Given the description of an element on the screen output the (x, y) to click on. 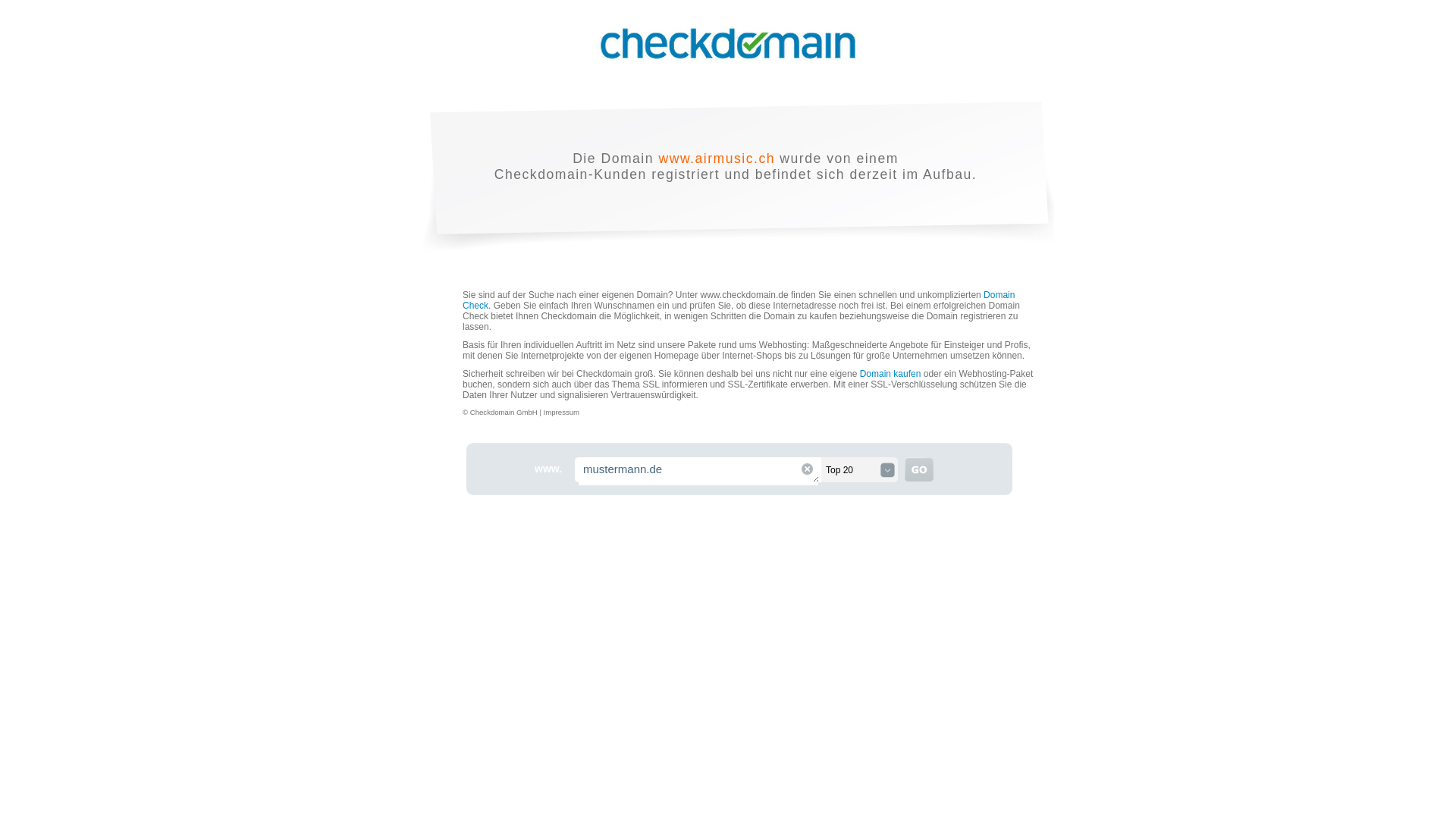
  Element type: text (806, 468)
Impressum Element type: text (561, 411)
Top 20
  Element type: text (861, 470)
Domain Check Element type: text (738, 299)
  Element type: text (918, 469)
Domain kaufen Element type: text (890, 373)
